Given the description of an element on the screen output the (x, y) to click on. 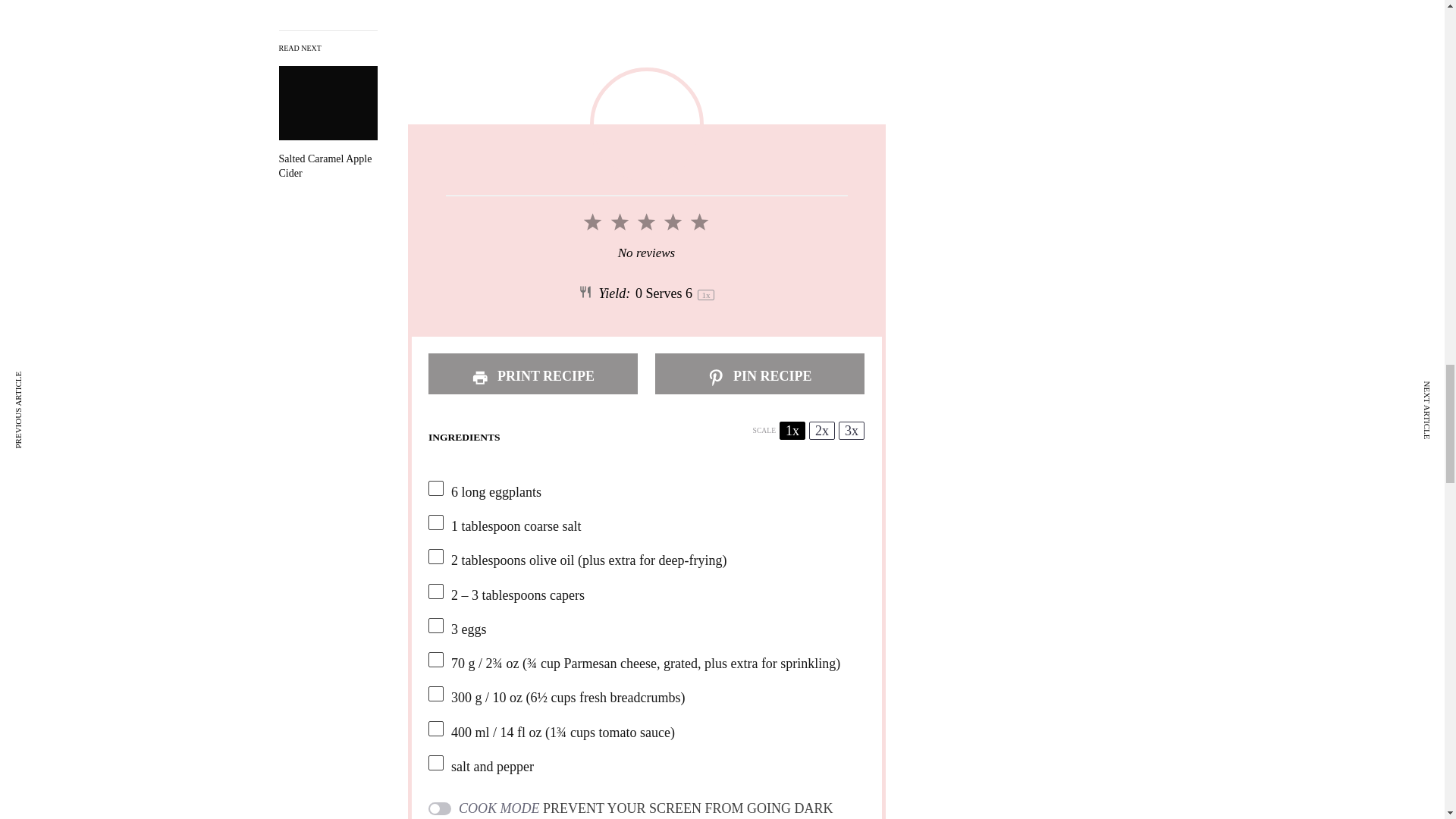
Salted Caramel Apple Cider (328, 4)
